Given the description of an element on the screen output the (x, y) to click on. 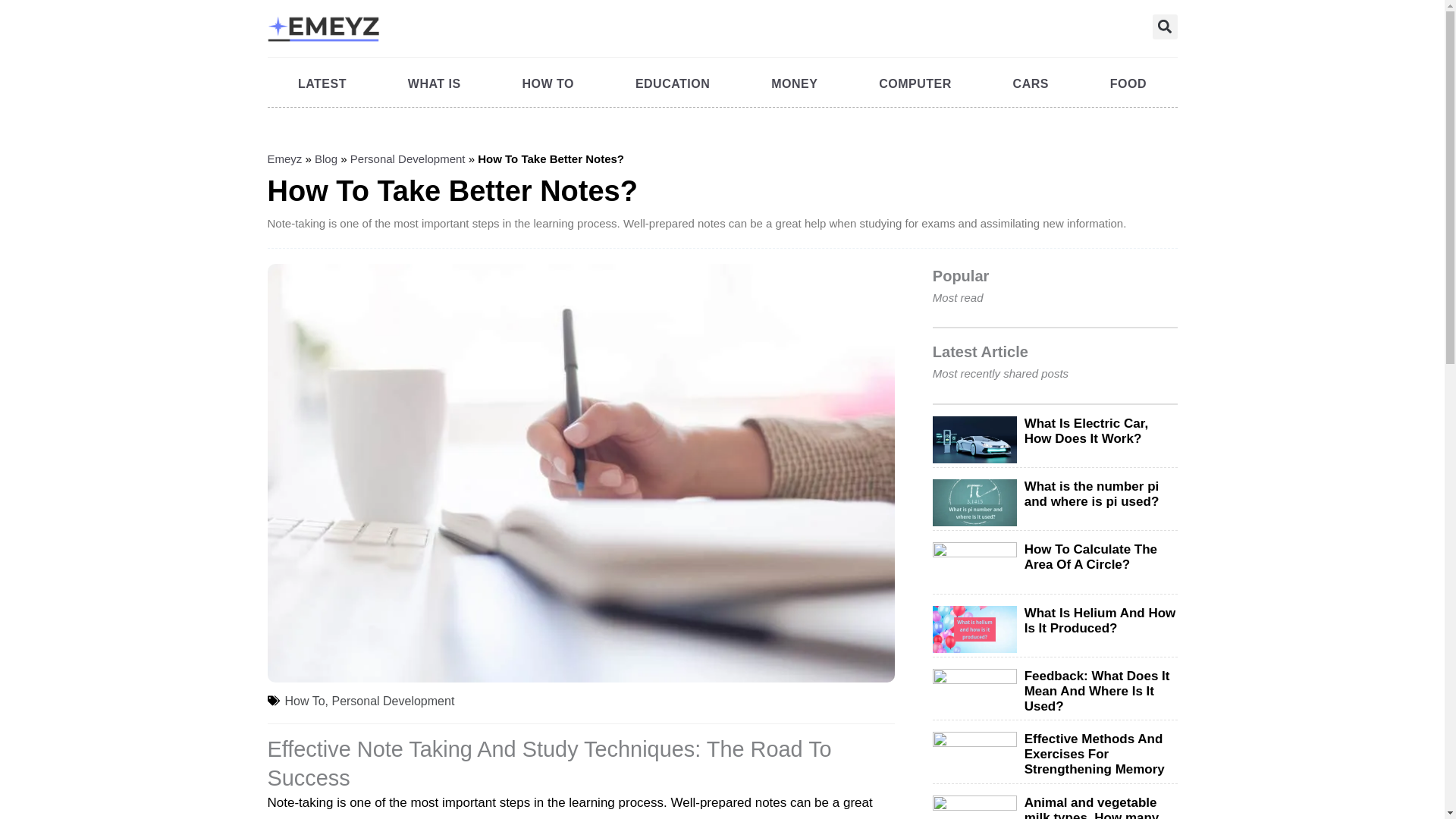
What is the number pi and where is pi used? (1091, 493)
How To (304, 700)
Personal Development (392, 700)
CARS (1029, 83)
MONEY (794, 83)
Emeyz (283, 158)
Feedback: What Does It Mean And Where Is It Used? (1097, 691)
COMPUTER (914, 83)
Blog (325, 158)
LATEST (321, 83)
Personal Development (407, 158)
What Is Electric Car, How Does It Work? (1086, 430)
EDUCATION (671, 83)
Effective Methods And Exercises For Strengthening Memory (1094, 754)
